Given the description of an element on the screen output the (x, y) to click on. 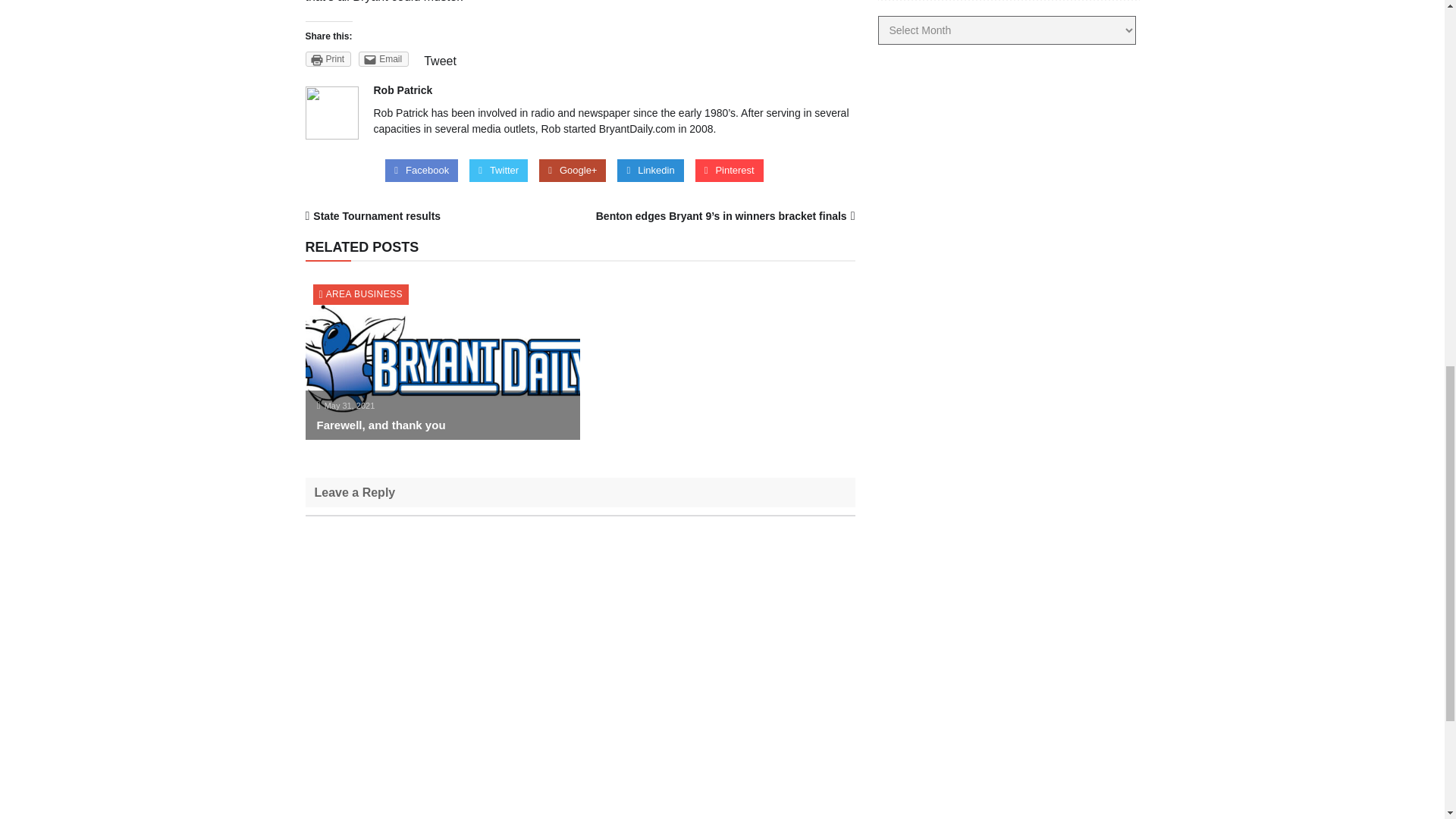
Facebook (421, 170)
Farewell, and thank you (381, 424)
Click to email this to a friend (383, 58)
Email (383, 58)
State Tournament results (377, 215)
Linkedin (650, 170)
Twitter (498, 170)
Rob Patrick (402, 90)
Tweet (440, 60)
